Given the description of an element on the screen output the (x, y) to click on. 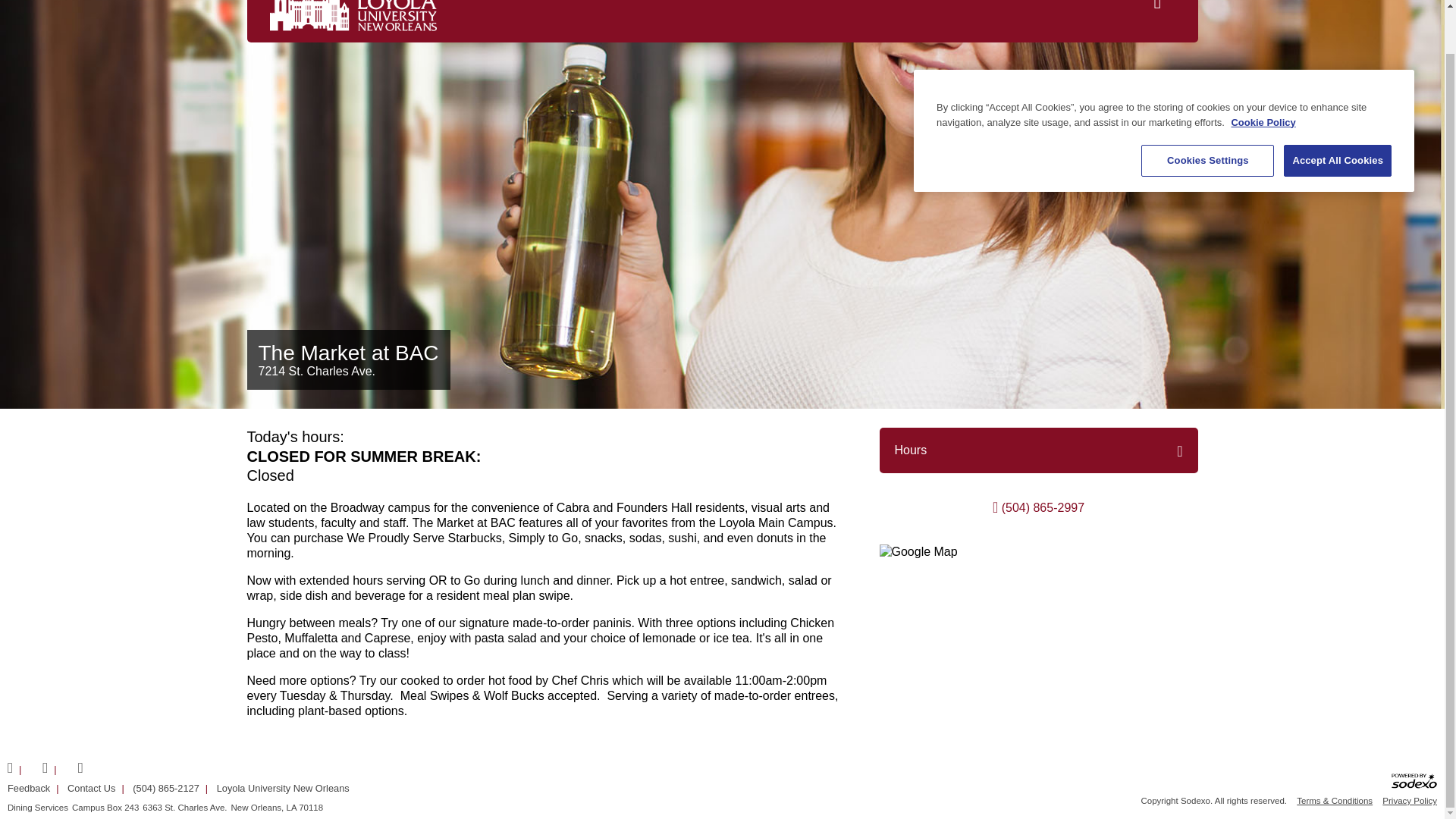
Hours (911, 449)
Menu (1164, 5)
